Given the description of an element on the screen output the (x, y) to click on. 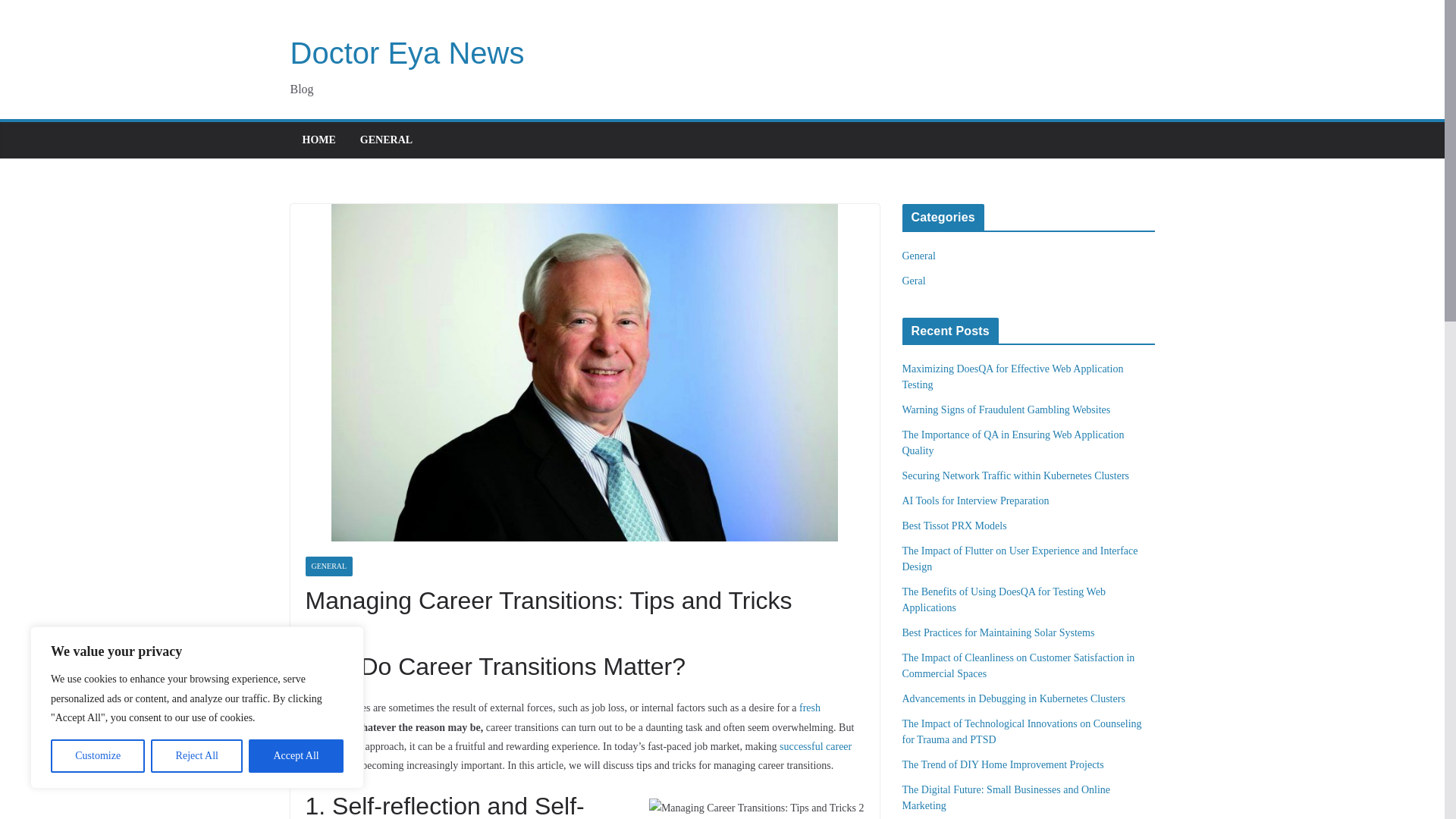
Maximizing DoesQA for Effective Web Application Testing (1013, 376)
HOME (317, 139)
Customize (97, 756)
Best Tissot PRX Models (954, 525)
Doctor Eya News (406, 52)
Geral (914, 280)
The Benefits of Using DoesQA for Testing Web Applications (1003, 599)
fresh challenge (562, 716)
Securing Network Traffic within Kubernetes Clusters (1015, 475)
